Given the description of an element on the screen output the (x, y) to click on. 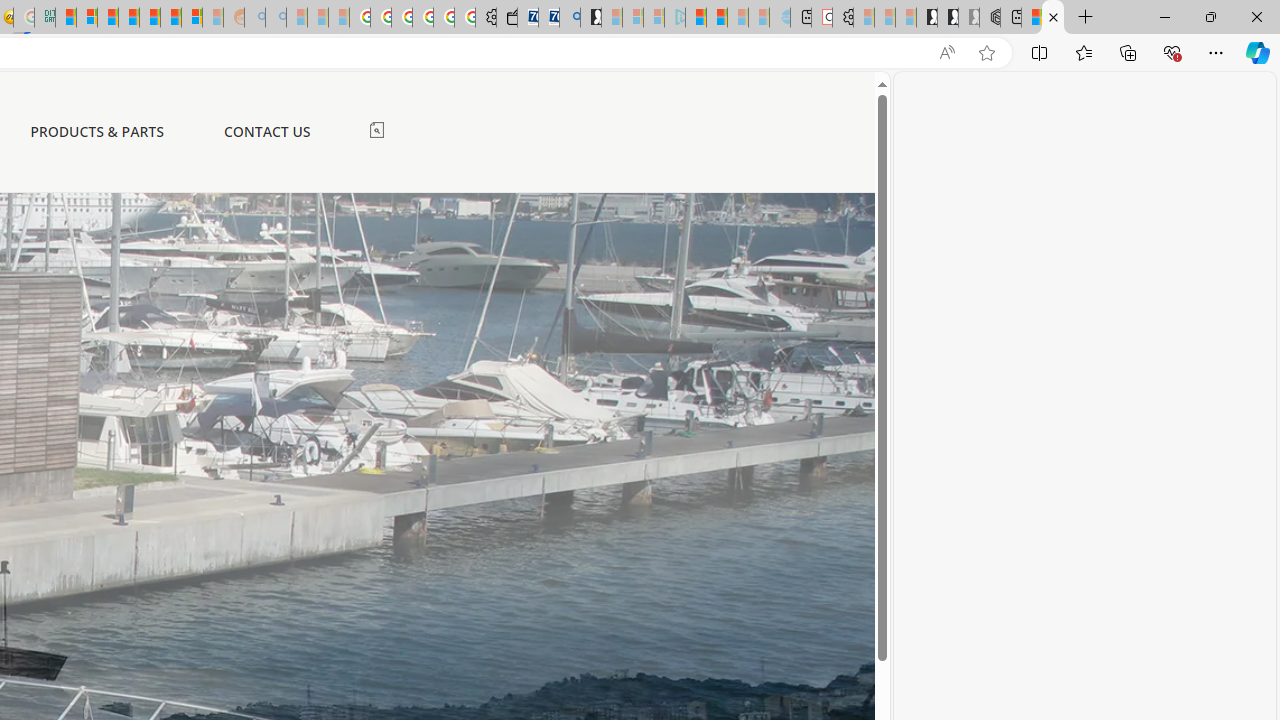
Aberdeen, Hong Kong SAR hourly forecast | Microsoft Weather (1031, 17)
